Given the description of an element on the screen output the (x, y) to click on. 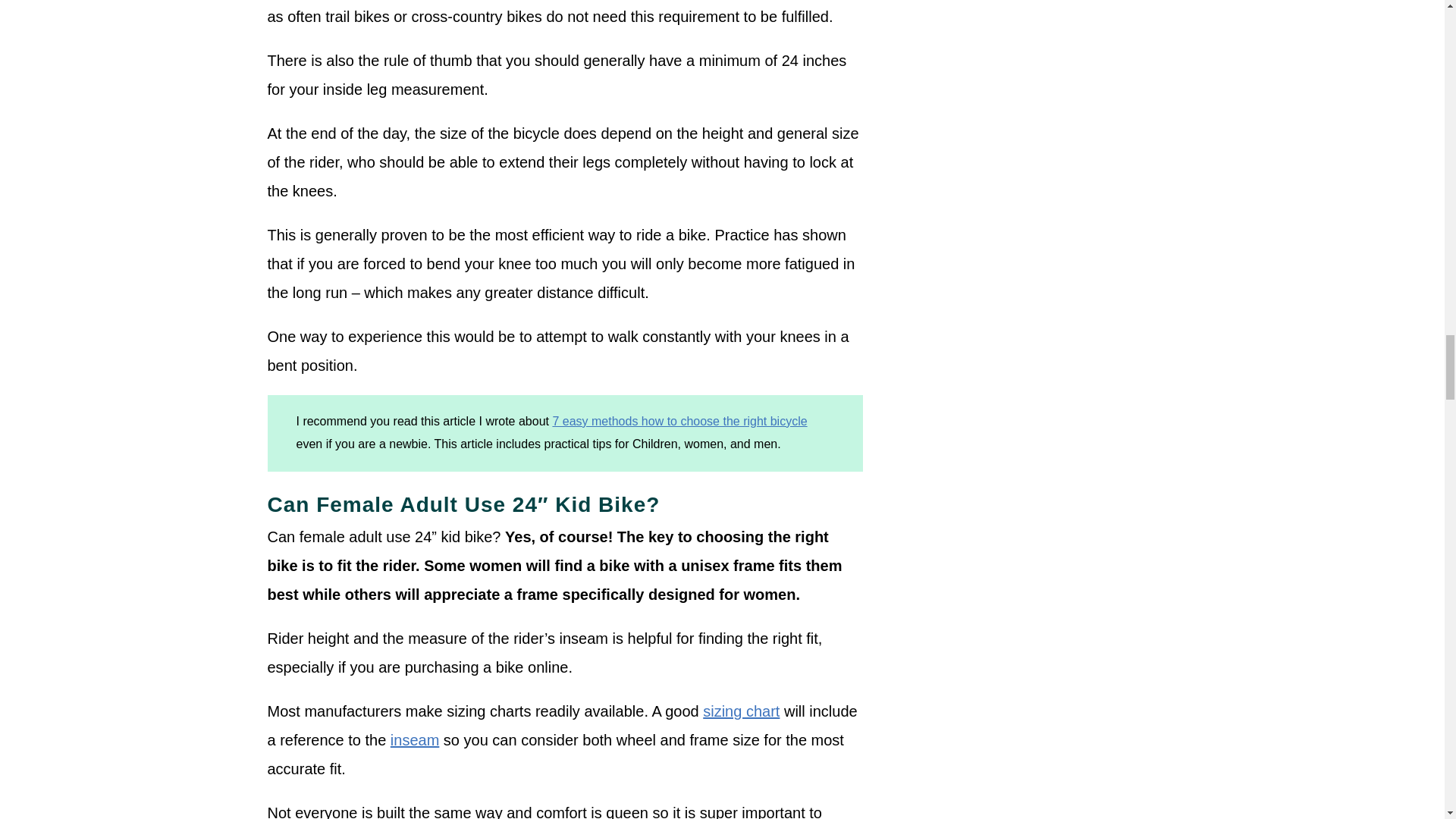
7 easy methods how to choose the right bicycle (678, 420)
inseam (414, 740)
sizing chart (740, 710)
